Given the description of an element on the screen output the (x, y) to click on. 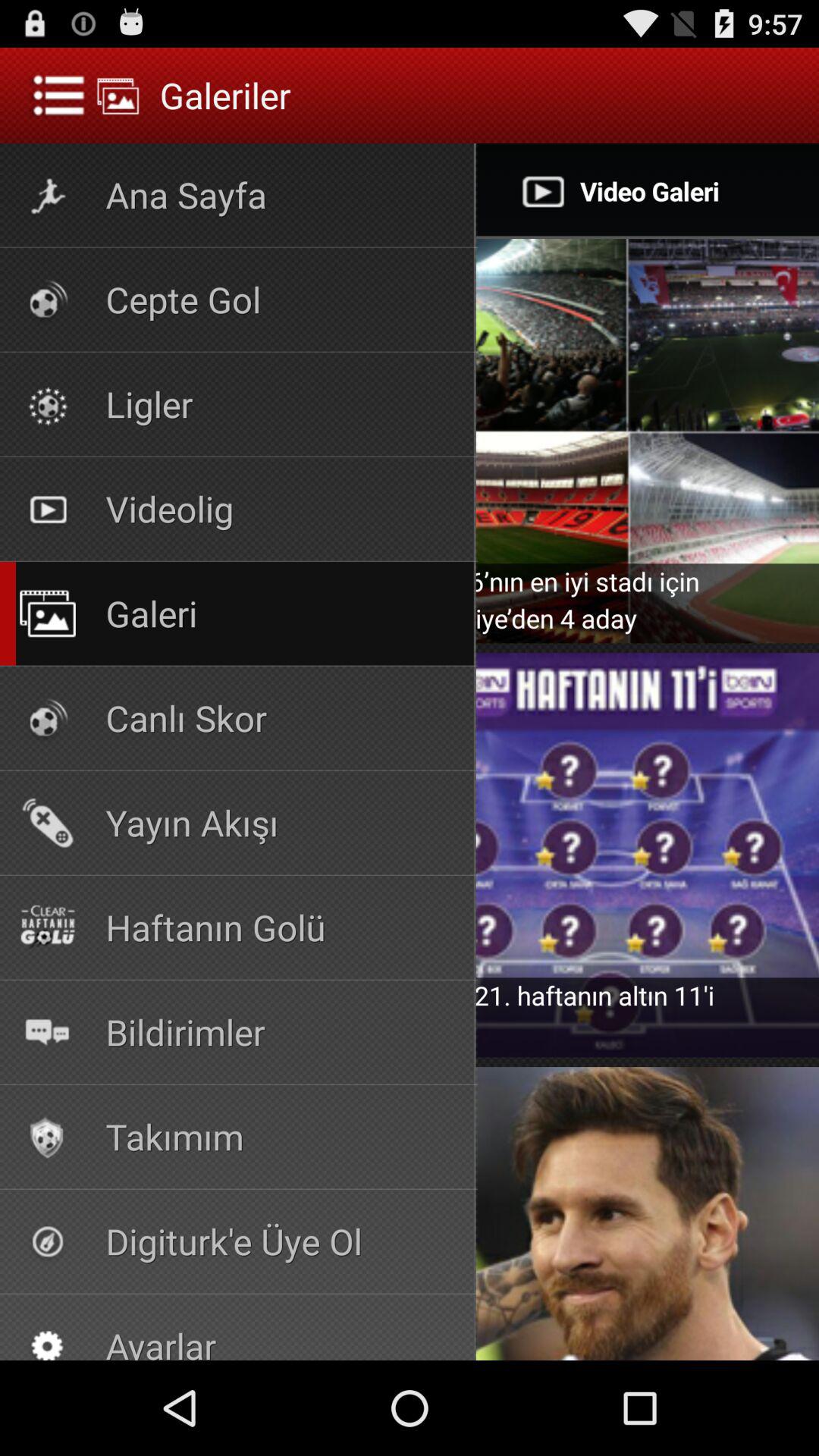
click on the icon  which is below the text ana sayfa (47, 299)
click the icon left of ligler (47, 404)
click on takimim icon (47, 1136)
select the message icon below the text haftanin (47, 1031)
